Given the description of an element on the screen output the (x, y) to click on. 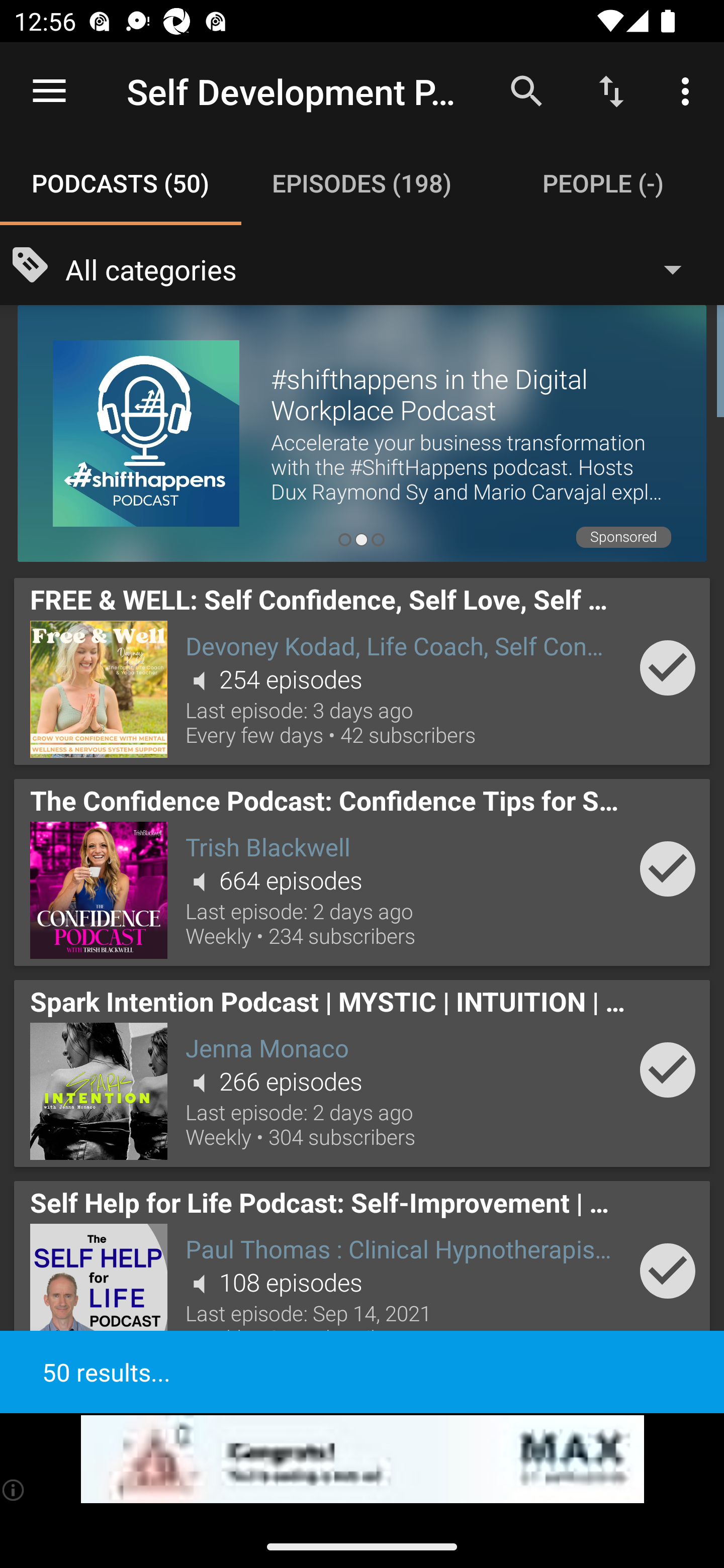
Open navigation sidebar (49, 91)
Search (526, 90)
Sort (611, 90)
More options (688, 90)
Episodes (198) EPISODES (198) (361, 183)
People (-) PEOPLE (-) (603, 183)
All categories (383, 268)
Add (667, 667)
Add (667, 868)
Add (667, 1069)
Add (667, 1271)
app-monetization (362, 1459)
(i) (14, 1489)
